Given the description of an element on the screen output the (x, y) to click on. 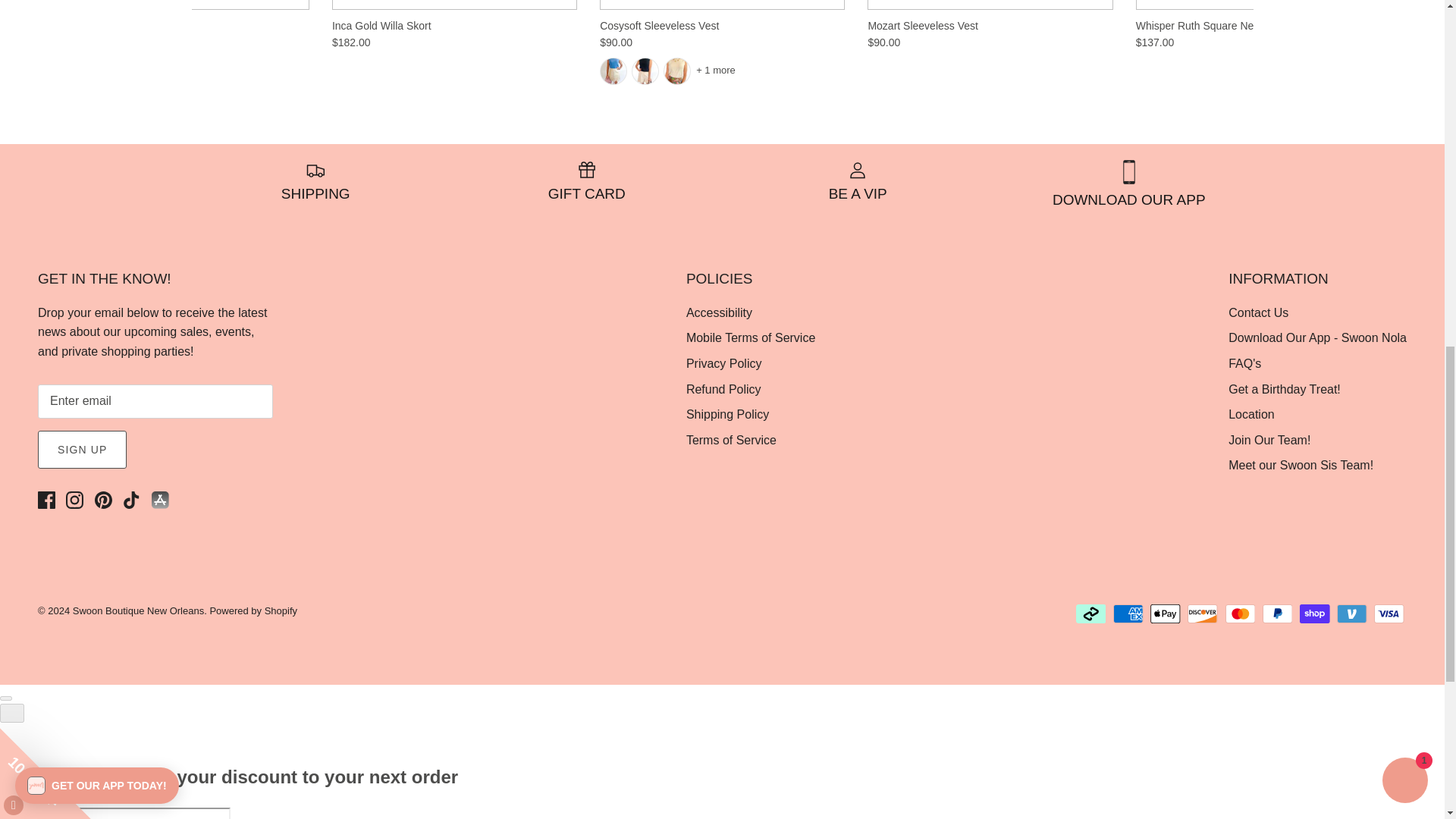
Pinterest (103, 499)
Apple Pay (1165, 613)
Facebook (46, 499)
American Express (1127, 613)
Discover (1202, 613)
Instagram (73, 499)
Afterpay (1090, 613)
